Given the description of an element on the screen output the (x, y) to click on. 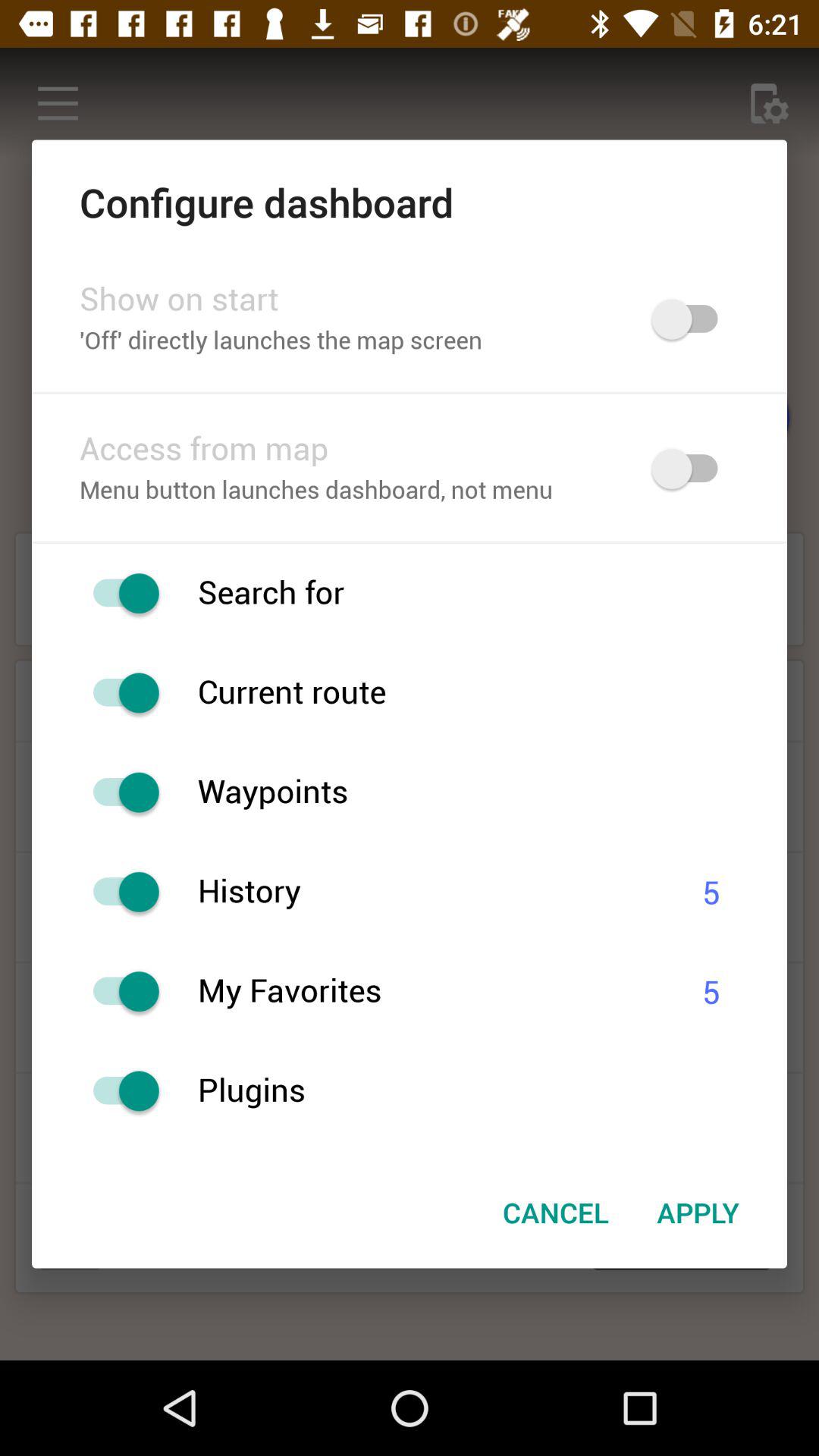
click icon above the plugins item (430, 991)
